Given the description of an element on the screen output the (x, y) to click on. 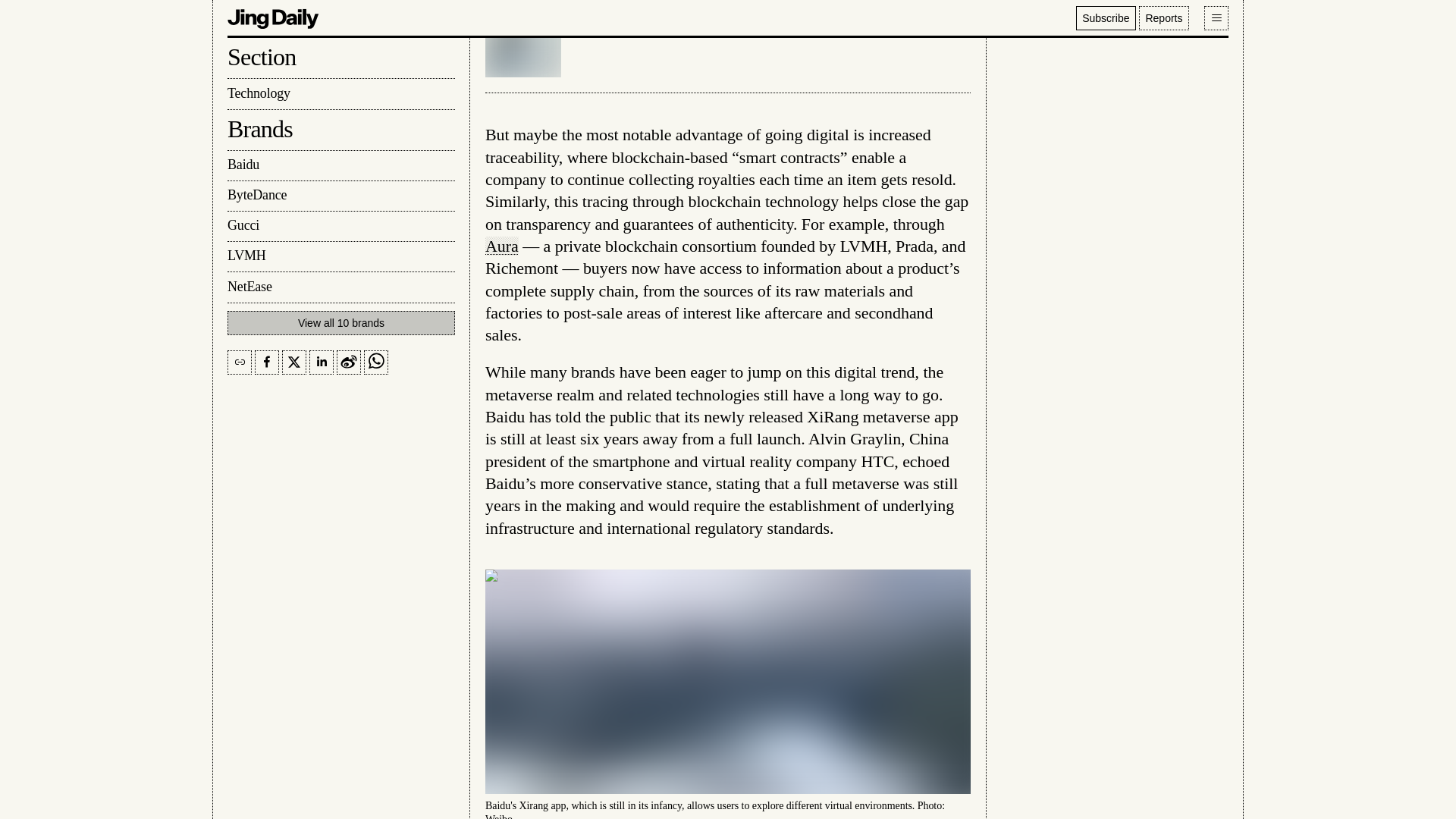
Aura (501, 245)
